Given the description of an element on the screen output the (x, y) to click on. 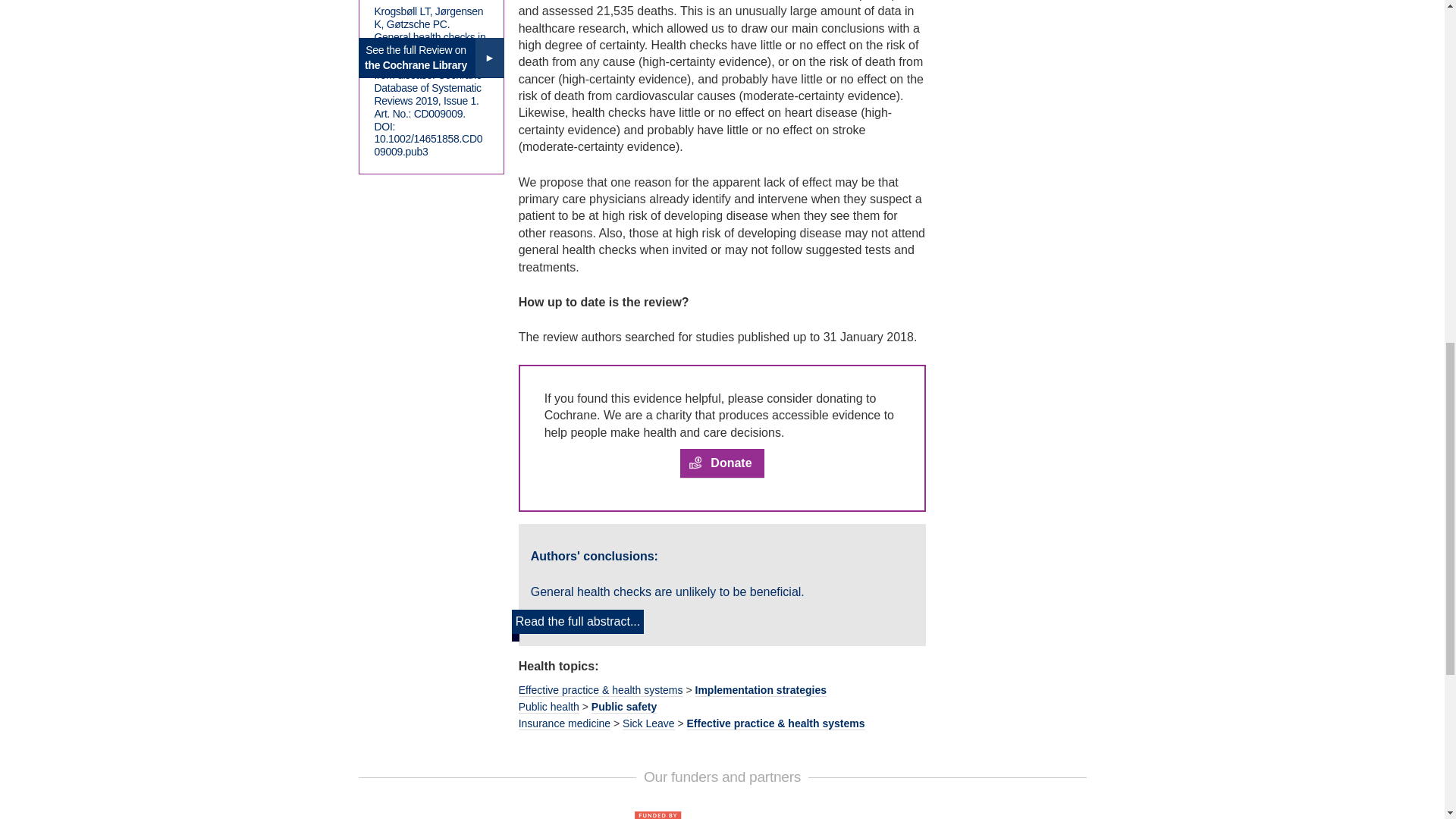
National Institute for Health and Care Research (721, 814)
Implementation strategies (760, 689)
Public safety (623, 707)
Sick Leave (648, 723)
Donate (720, 463)
Insurance medicine (564, 723)
Public health (548, 707)
